Given the description of an element on the screen output the (x, y) to click on. 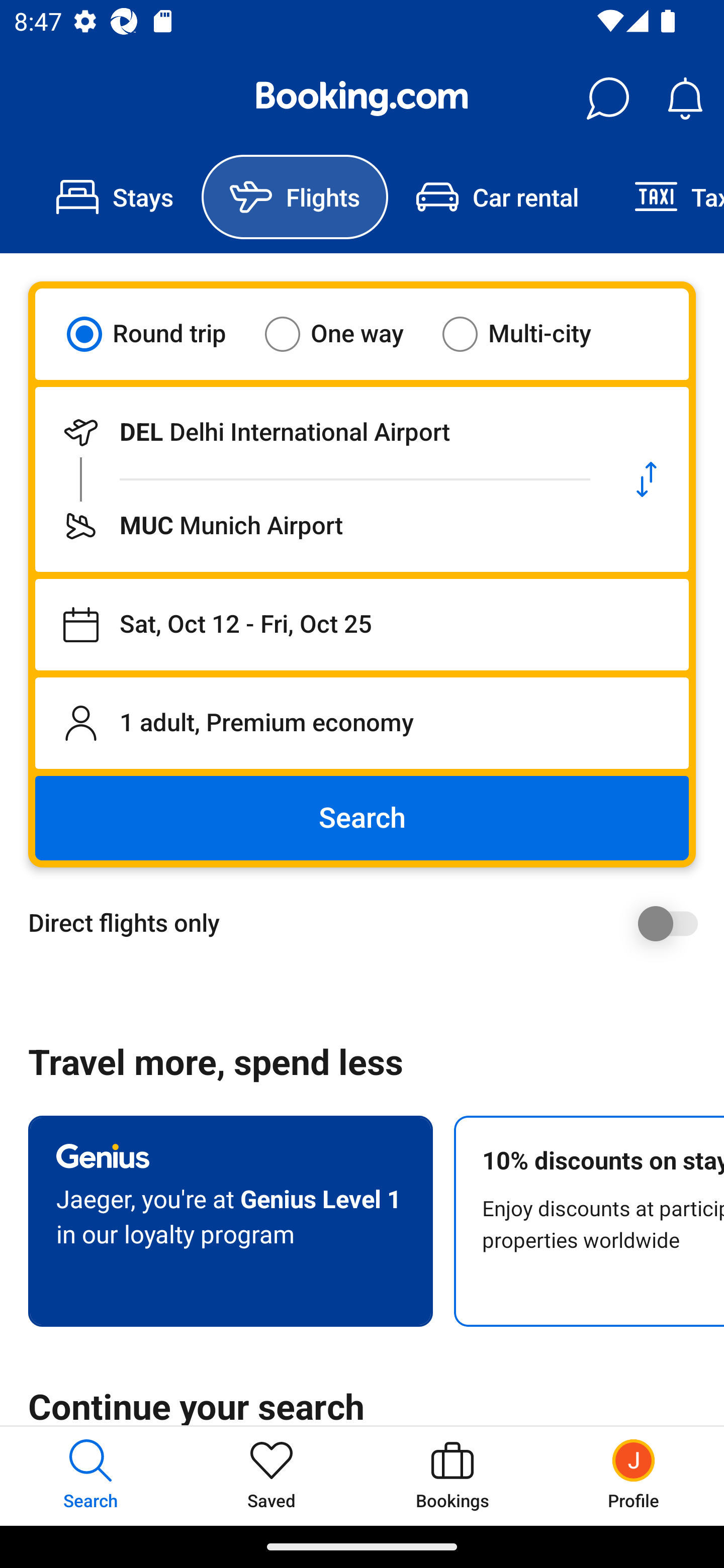
Messages (607, 98)
Notifications (685, 98)
Stays (114, 197)
Flights (294, 197)
Car rental (497, 197)
Taxi (665, 197)
One way (346, 333)
Multi-city (528, 333)
Departing from DEL Delhi International Airport (319, 432)
Swap departure location and destination (646, 479)
Flying to MUC Munich Airport (319, 525)
Departing on Sat, Oct 12, returning on Fri, Oct 25 (361, 624)
1 adult, Premium economy (361, 722)
Search (361, 818)
Direct flights only (369, 923)
Saved (271, 1475)
Bookings (452, 1475)
Profile (633, 1475)
